Given the description of an element on the screen output the (x, y) to click on. 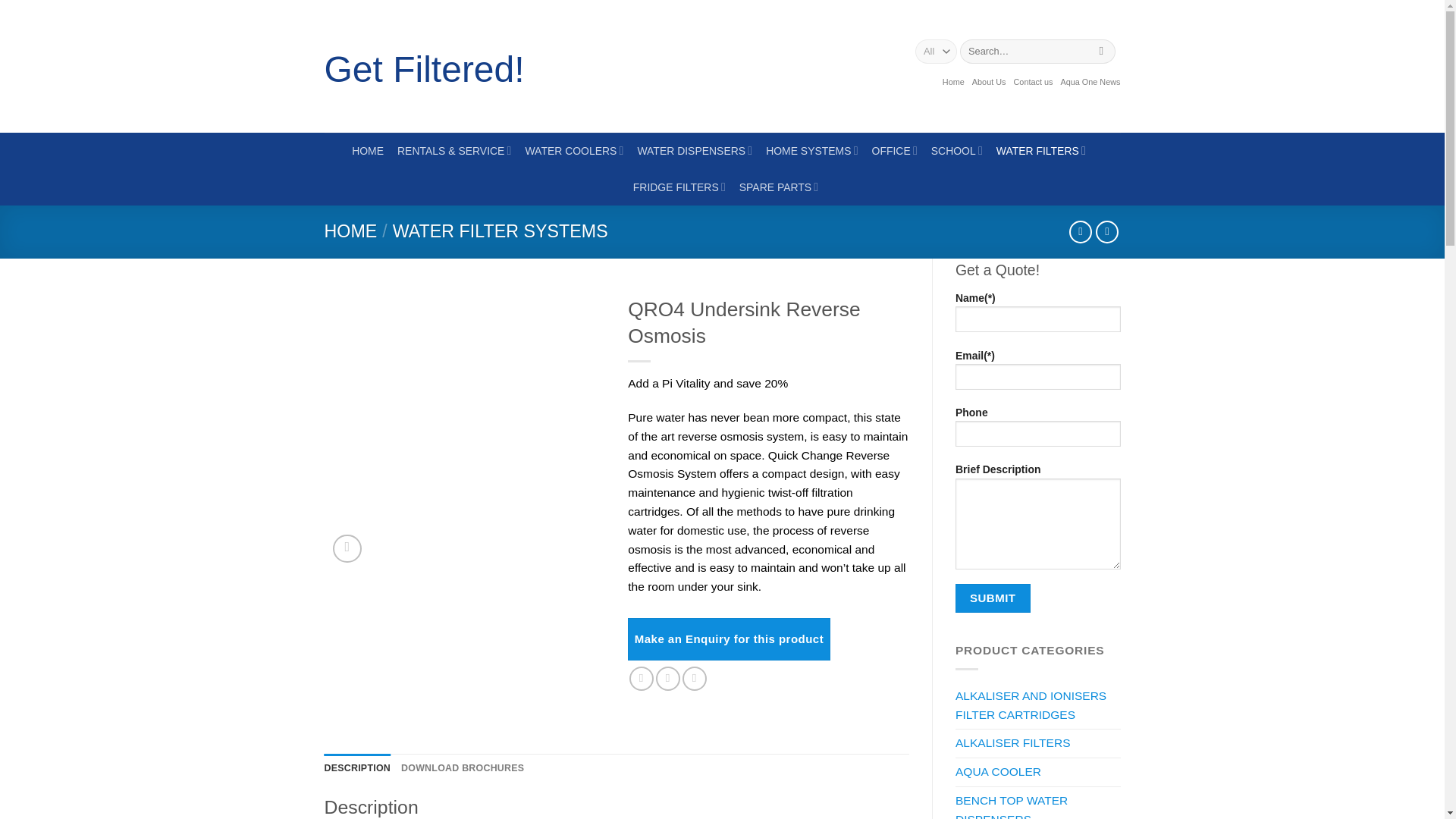
Email to a Friend (667, 678)
Contact us (1032, 81)
WATER COOLERS (573, 150)
Zoom (347, 547)
Share on LinkedIn (694, 678)
Aqua One News (1089, 81)
About Us (989, 81)
Search (1101, 51)
Submit (992, 597)
